Given the description of an element on the screen output the (x, y) to click on. 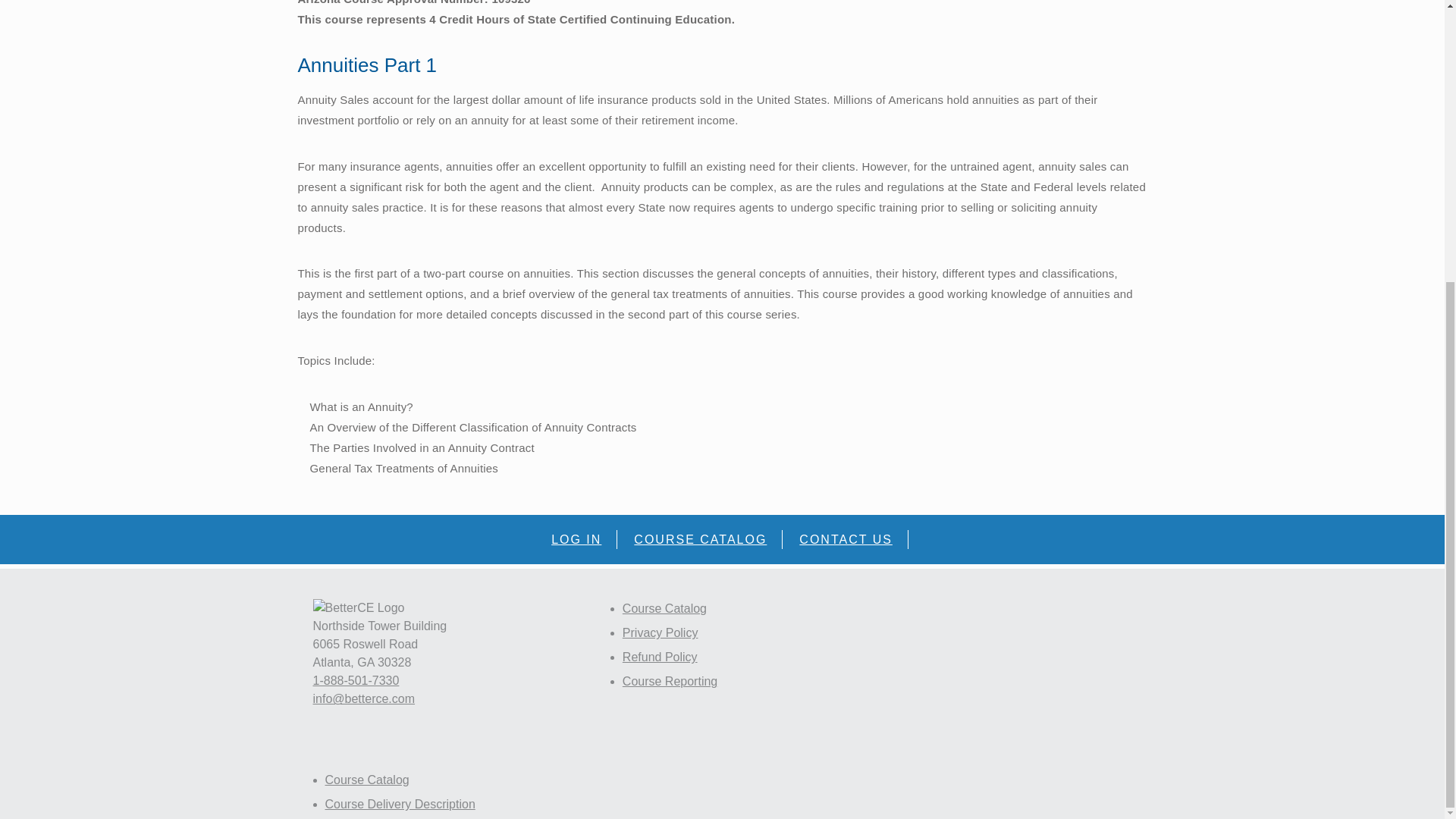
Course Catalog (664, 608)
CONTACT US (846, 539)
Facebook (343, 751)
Course Catalog (366, 779)
LOG IN (576, 539)
Youtube (365, 751)
Privacy Policy (660, 632)
Facebook (343, 751)
Refund Policy (660, 656)
Linkedin (321, 751)
Course Delivery Description (399, 803)
1-888-501-7330 (355, 680)
COURSE CATALOG (700, 539)
Course Reporting (670, 680)
Linkedin (321, 751)
